Given the description of an element on the screen output the (x, y) to click on. 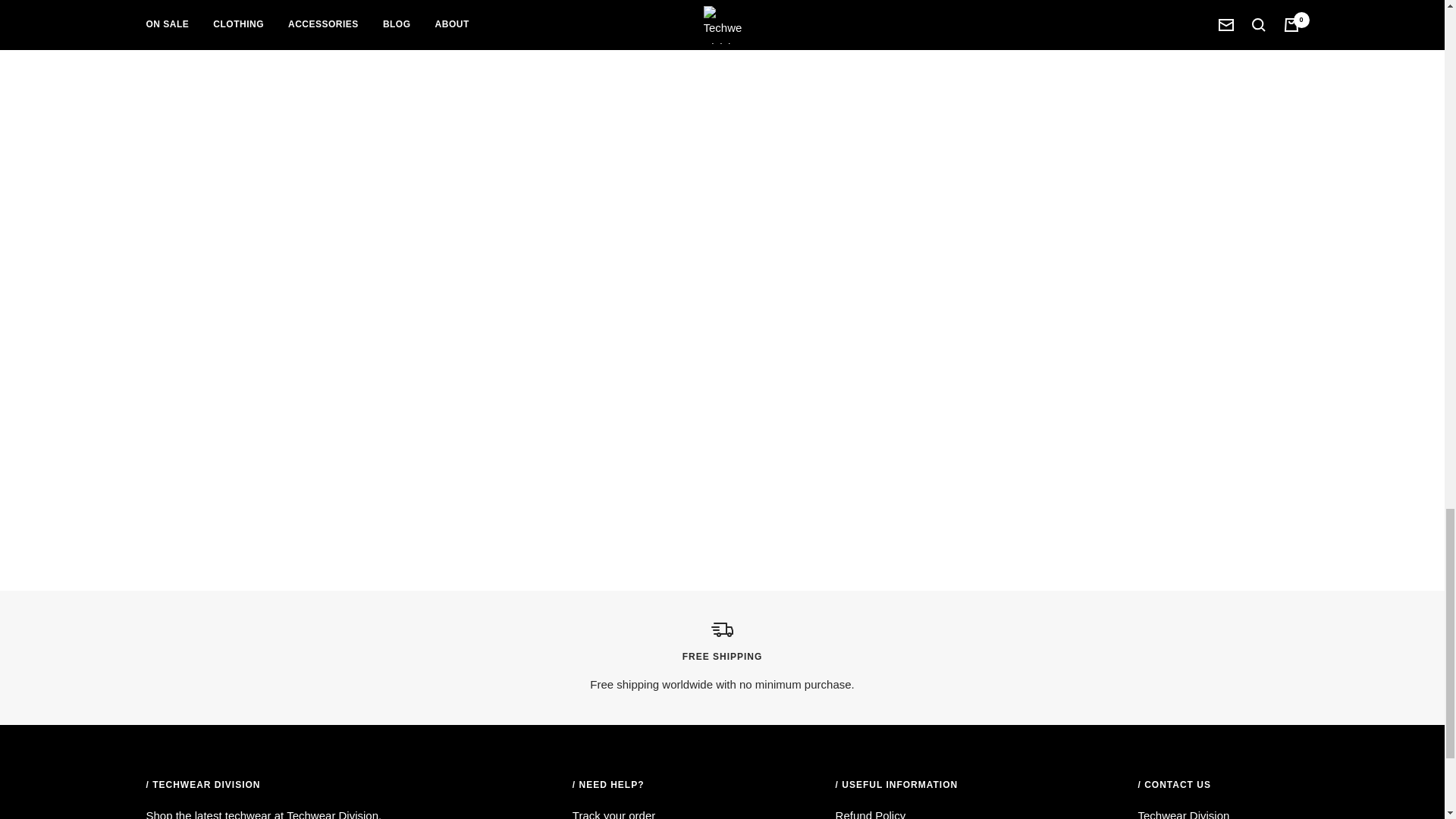
Refund Policy (870, 812)
Track your order (613, 812)
